Given the description of an element on the screen output the (x, y) to click on. 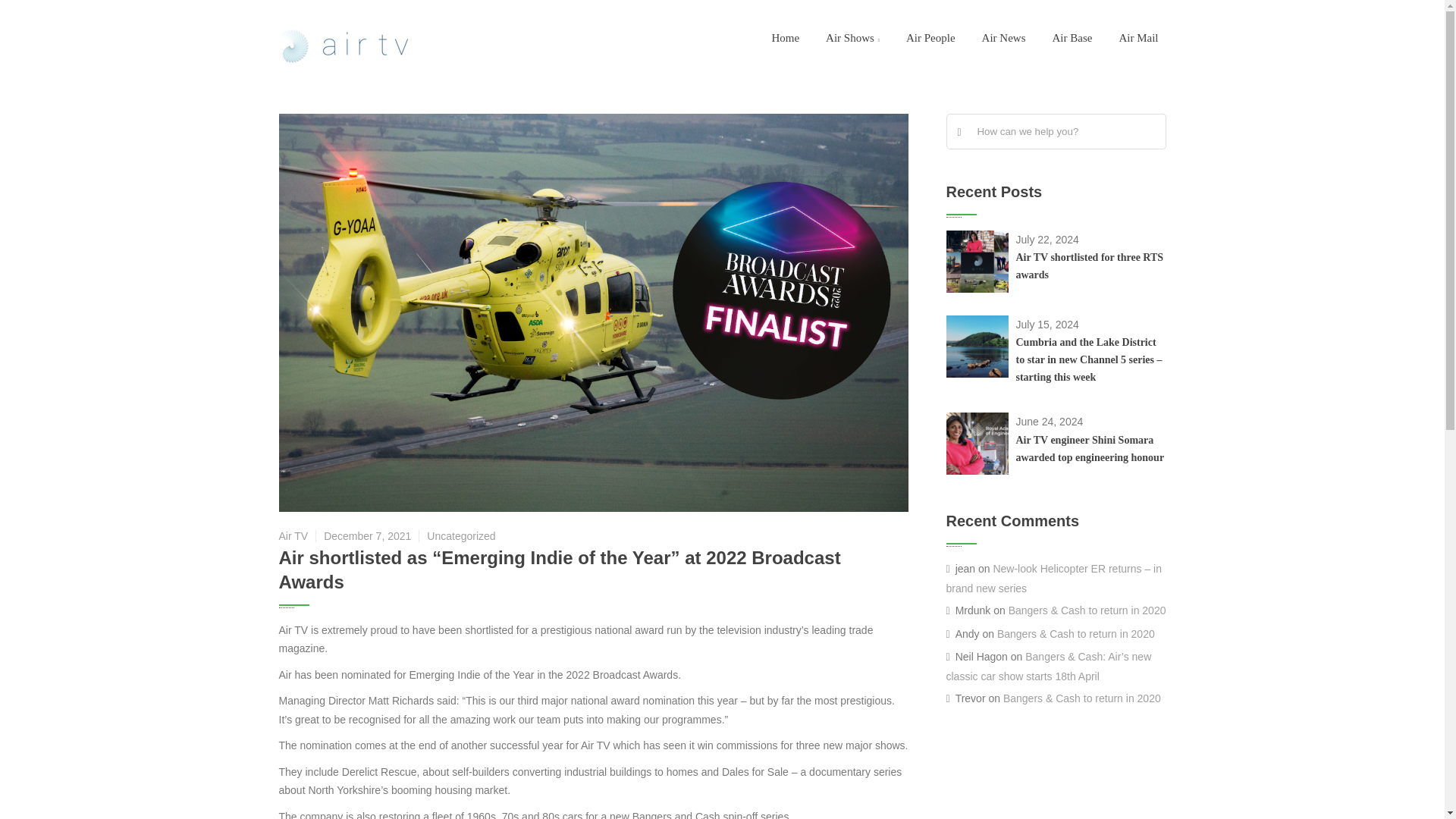
Air TV (346, 46)
Air TV engineer Shini Somara awarded top engineering honour (1090, 448)
Air TV shortlisted for three RTS awards (1089, 265)
Air Shows (852, 38)
View all posts by Air TV (293, 535)
